Given the description of an element on the screen output the (x, y) to click on. 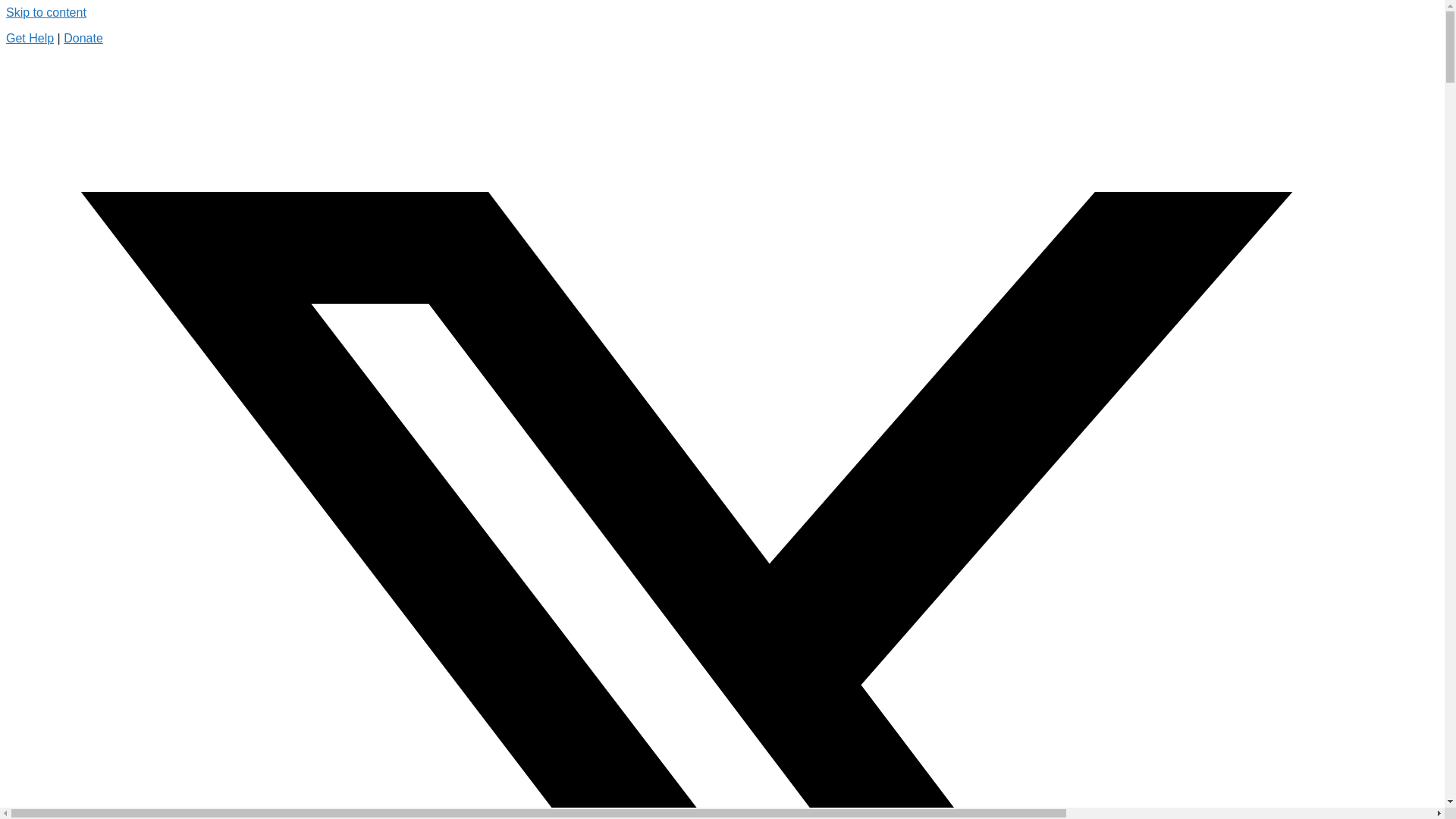
Skip to content (45, 11)
Donate (83, 38)
Get Help (29, 38)
Skip to content (45, 11)
